Given the description of an element on the screen output the (x, y) to click on. 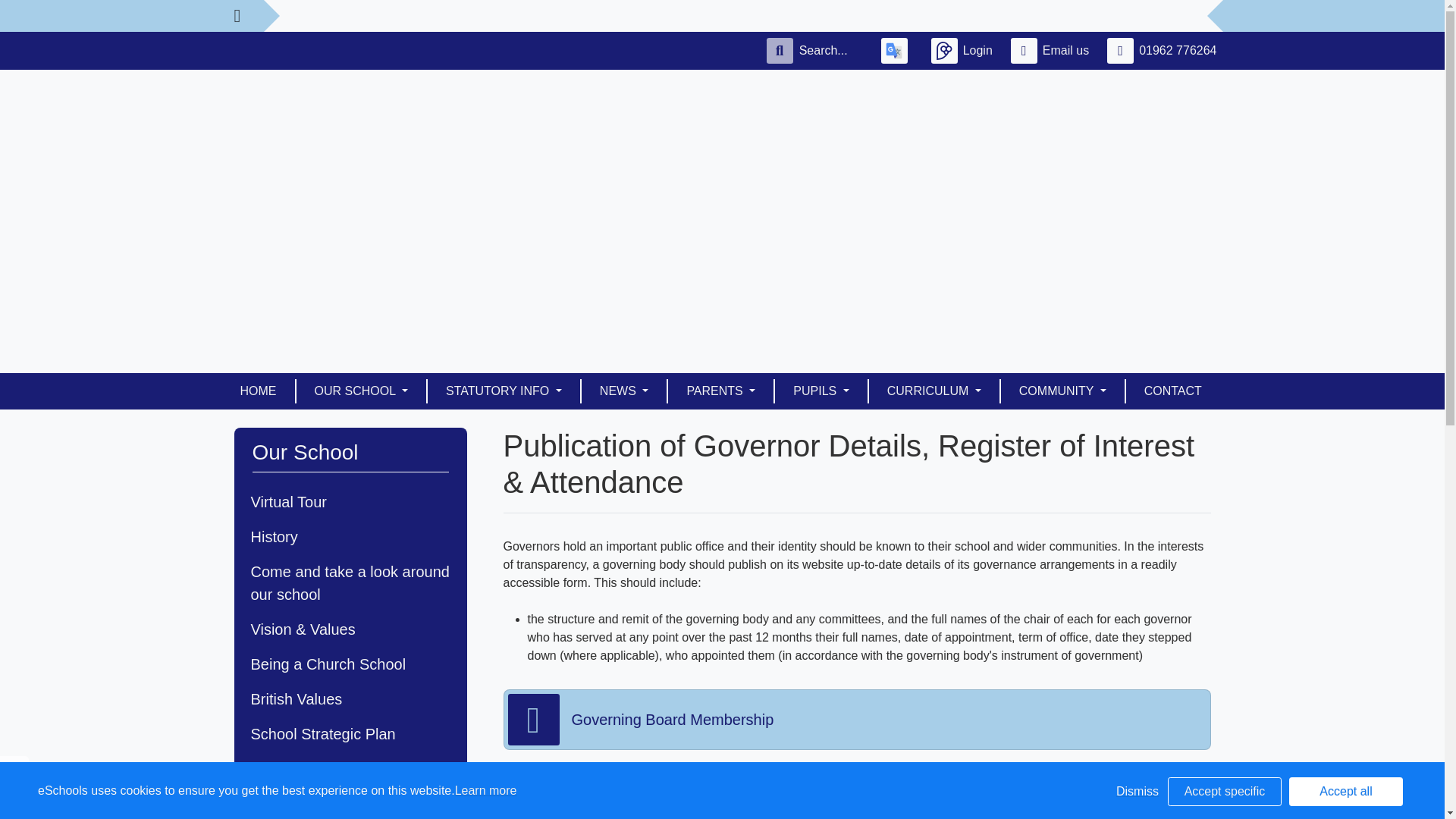
Login (964, 50)
Email us (1052, 50)
01962 776264 (1164, 50)
